Given the description of an element on the screen output the (x, y) to click on. 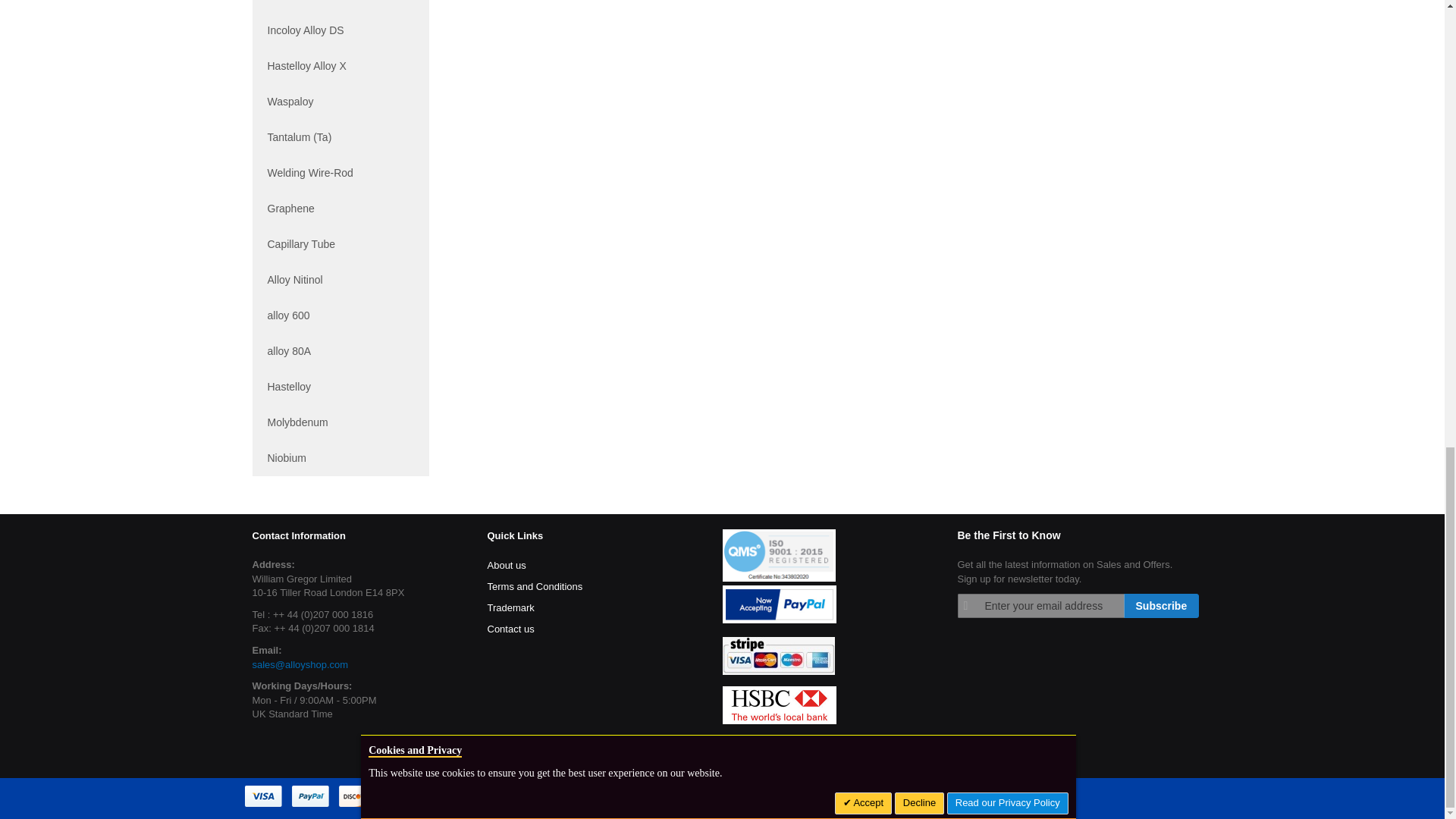
Subscribe (1161, 605)
Contact us (510, 628)
Terms and Conditions (534, 586)
About us (505, 565)
ST (778, 654)
Trademark (510, 607)
Secure Online payment (380, 795)
